Given the description of an element on the screen output the (x, y) to click on. 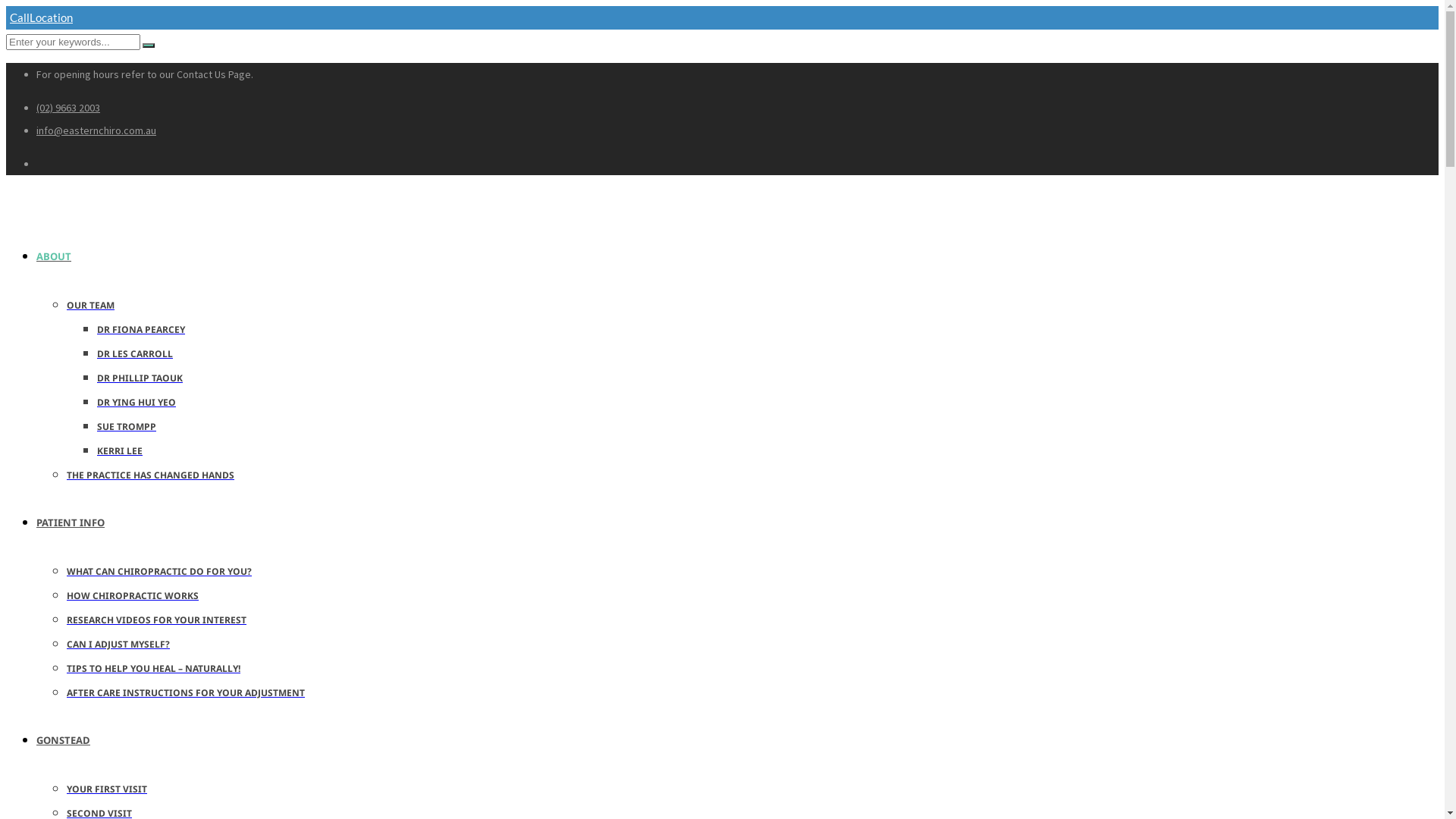
SUE TROMPP Element type: text (126, 426)
HOW CHIROPRACTIC WORKS Element type: text (132, 595)
THE PRACTICE HAS CHANGED HANDS Element type: text (150, 474)
OUR TEAM Element type: text (90, 304)
DR YING HUI YEO Element type: text (136, 401)
Call Element type: text (17, 17)
info@easternchiro.com.au Element type: text (96, 130)
AFTER CARE INSTRUCTIONS FOR YOUR ADJUSTMENT Element type: text (185, 692)
RESEARCH VIDEOS FOR YOUR INTEREST Element type: text (156, 619)
ABOUT Element type: text (67, 255)
YOUR FIRST VISIT Element type: text (106, 788)
GONSTEAD Element type: text (76, 739)
DR LES CARROLL Element type: text (134, 353)
Location Element type: text (52, 17)
KERRI LEE Element type: text (119, 450)
PATIENT INFO Element type: text (83, 521)
WHAT CAN CHIROPRACTIC DO FOR YOU? Element type: text (158, 570)
(02) 9663 2003 Element type: text (68, 107)
DR PHILLIP TAOUK Element type: text (139, 377)
DR FIONA PEARCEY Element type: text (141, 329)
CAN I ADJUST MYSELF? Element type: text (117, 643)
For opening hours refer to our Contact Us Page. Element type: text (144, 74)
Eastern Suburbs Chiropractic Element type: hover (6, 196)
